Given the description of an element on the screen output the (x, y) to click on. 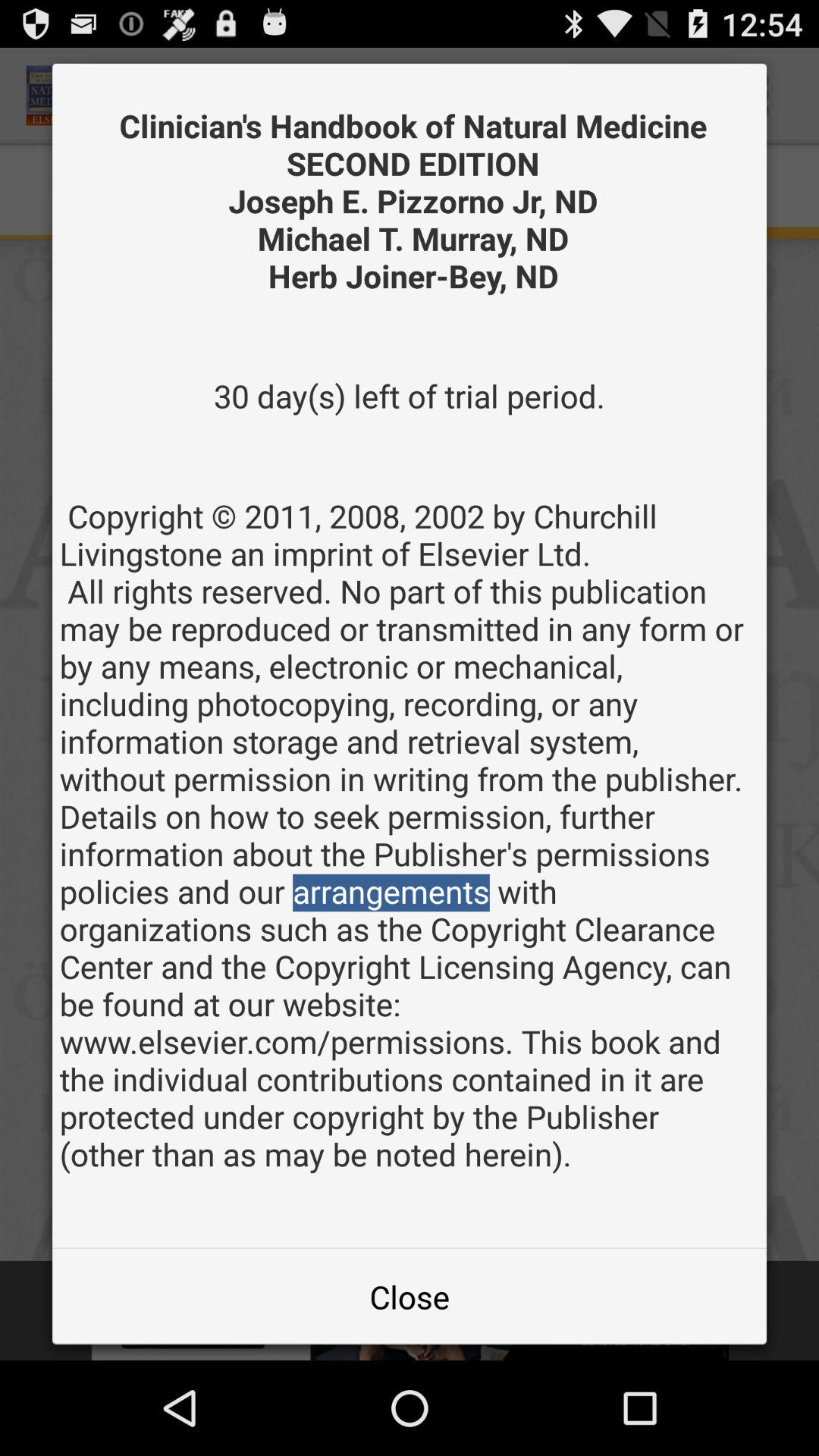
press close item (409, 1296)
